Given the description of an element on the screen output the (x, y) to click on. 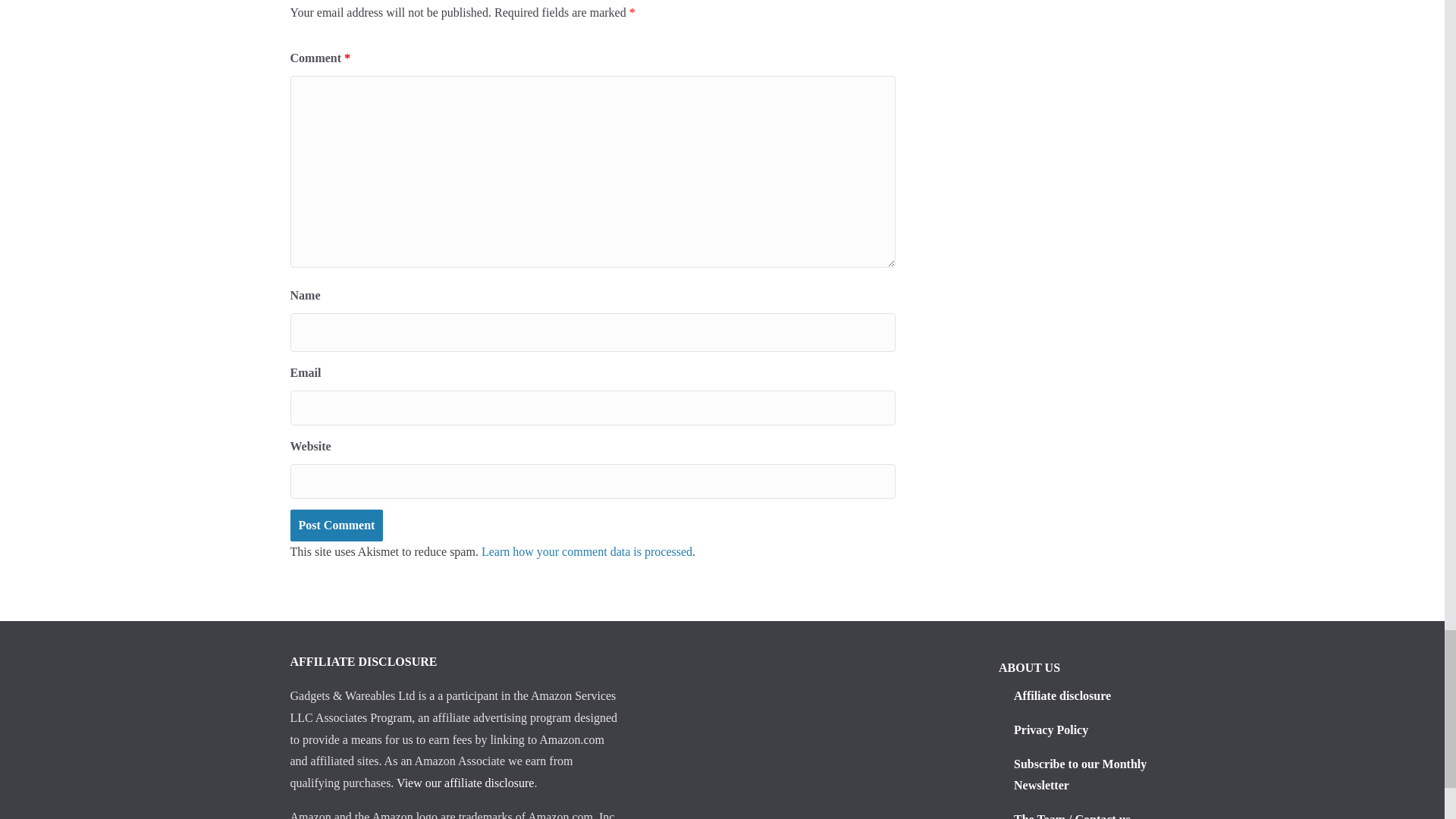
Post Comment (335, 525)
